Given the description of an element on the screen output the (x, y) to click on. 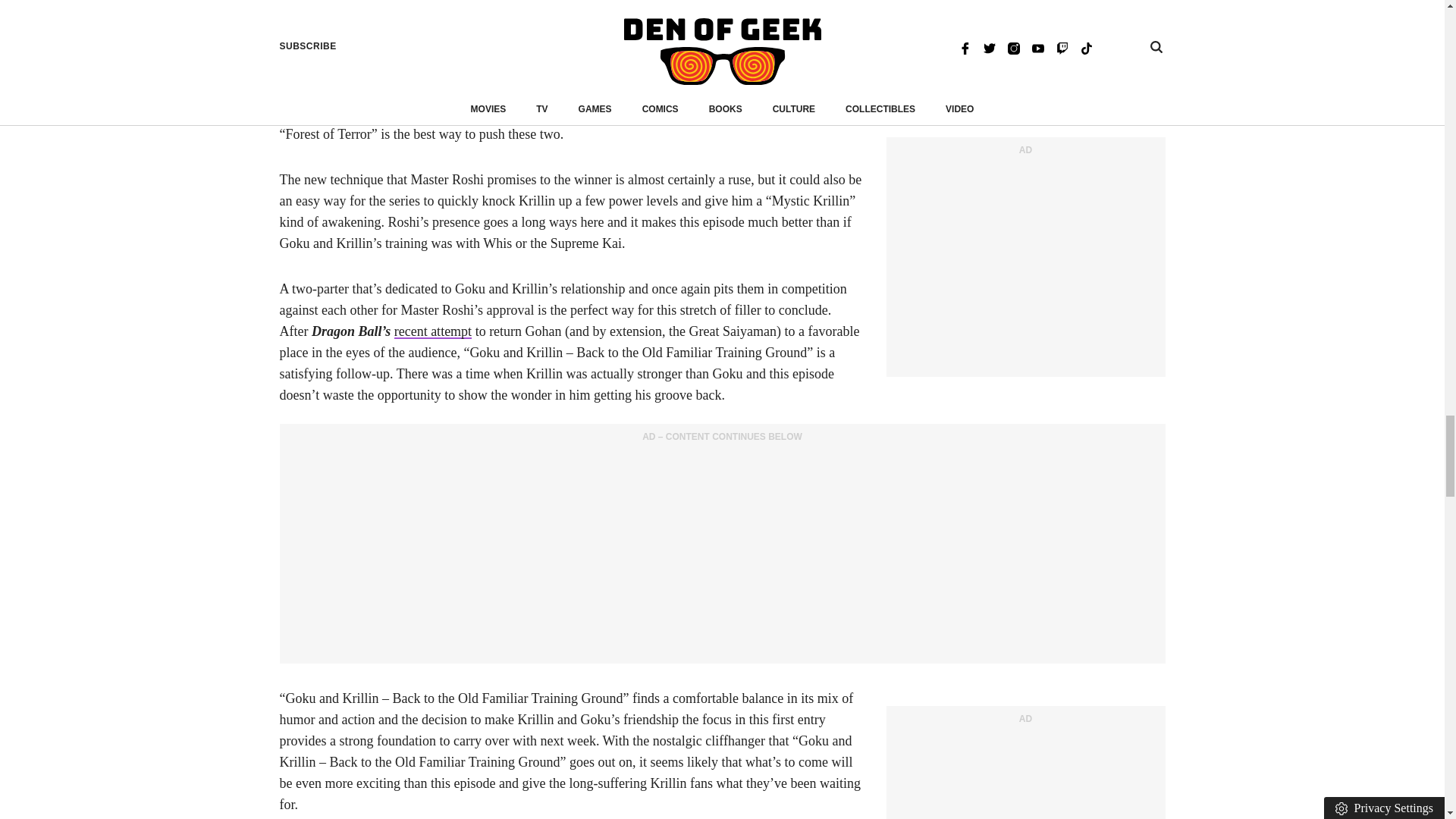
recent attempt (432, 331)
